Given the description of an element on the screen output the (x, y) to click on. 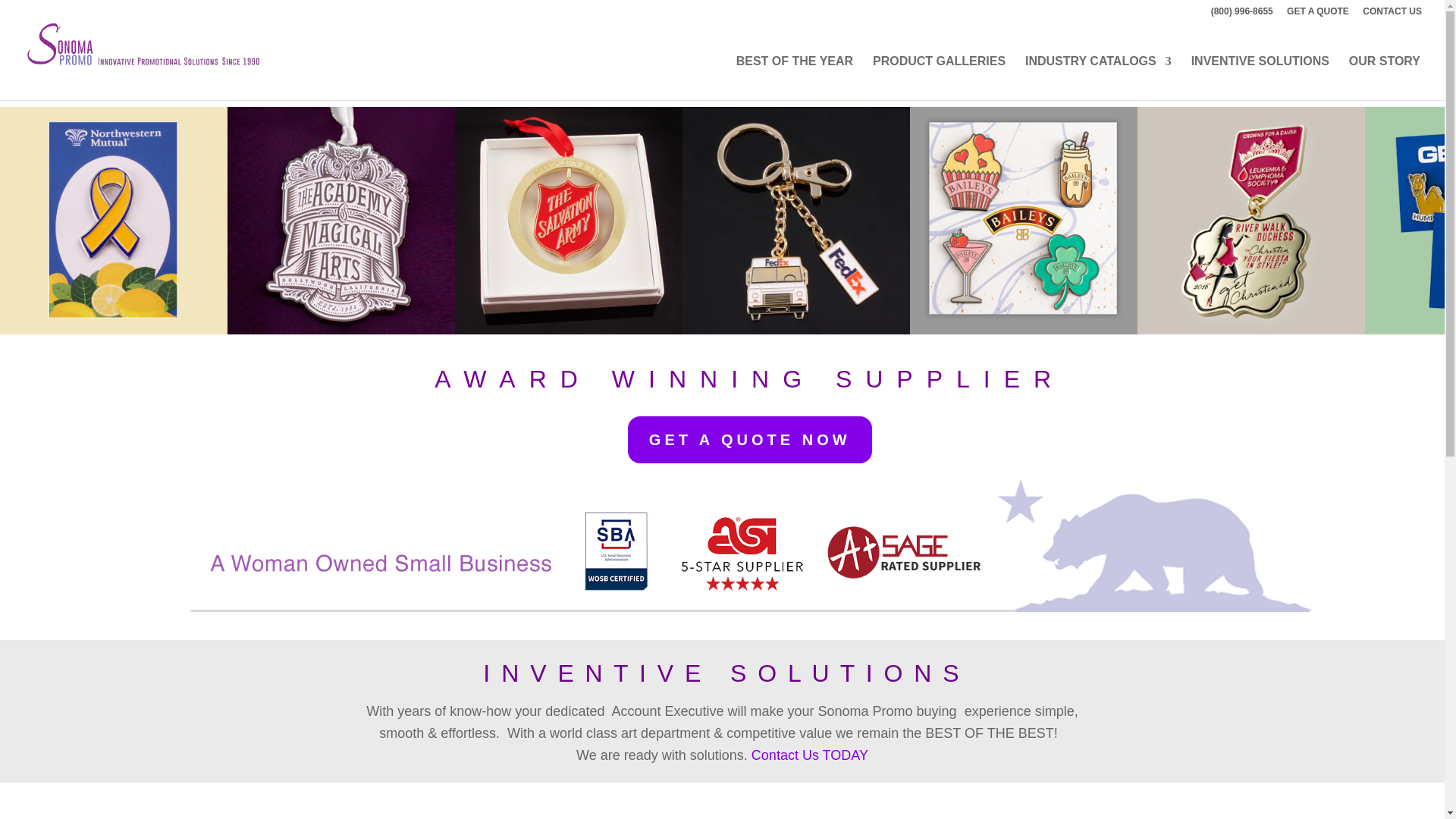
BEST OF THE YEAR (794, 77)
OUR STORY (1385, 77)
INDUSTRY CATALOGS (1098, 77)
PRODUCT GALLERIES (939, 77)
INVENTIVE SOLUTIONS (1260, 77)
GET A QUOTE (1318, 14)
CONTACT US (1392, 14)
